Given the description of an element on the screen output the (x, y) to click on. 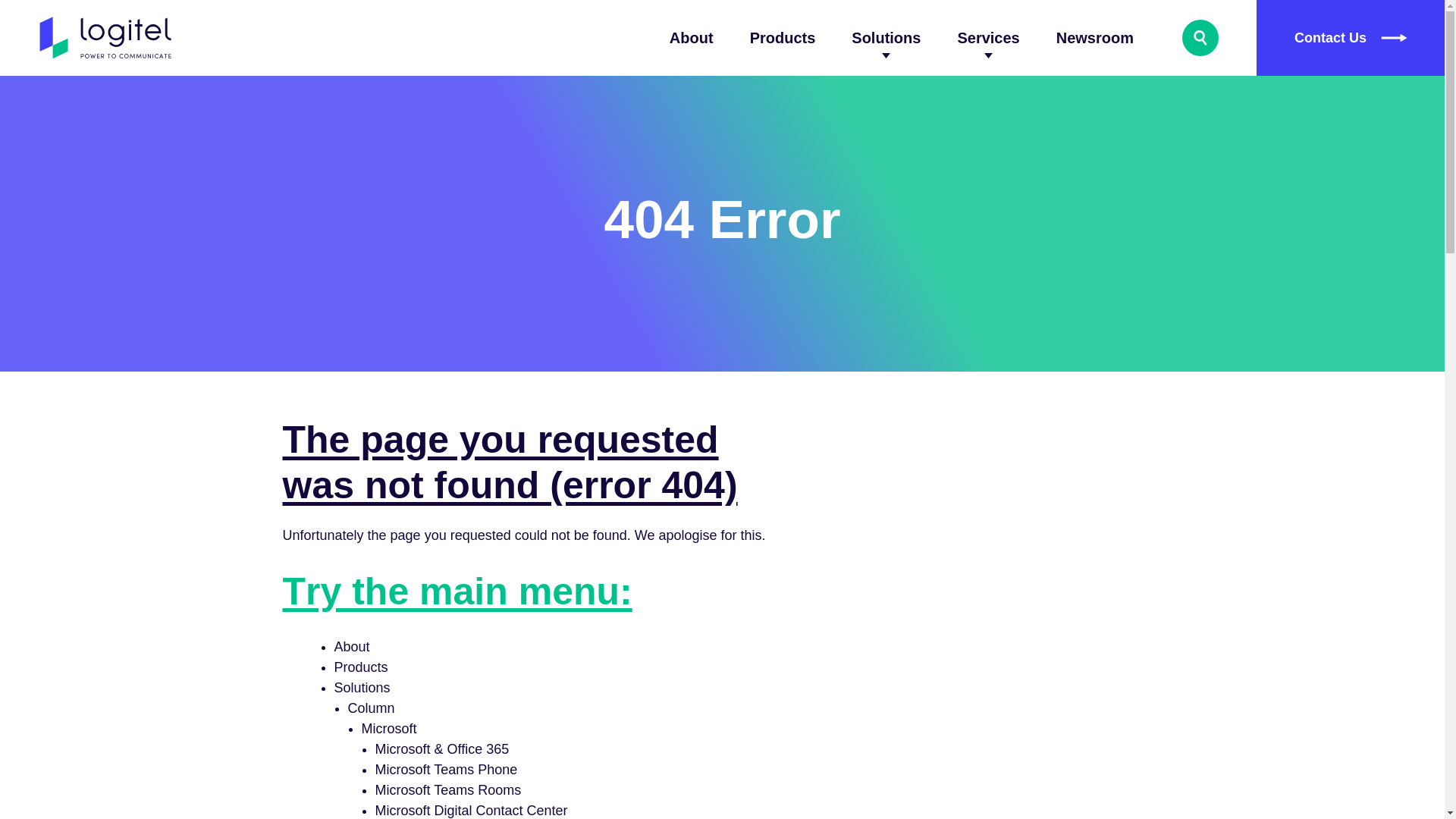
Products (783, 38)
Solutions (885, 38)
Search (1200, 37)
About (691, 38)
Logitel - Home page (105, 37)
